Given the description of an element on the screen output the (x, y) to click on. 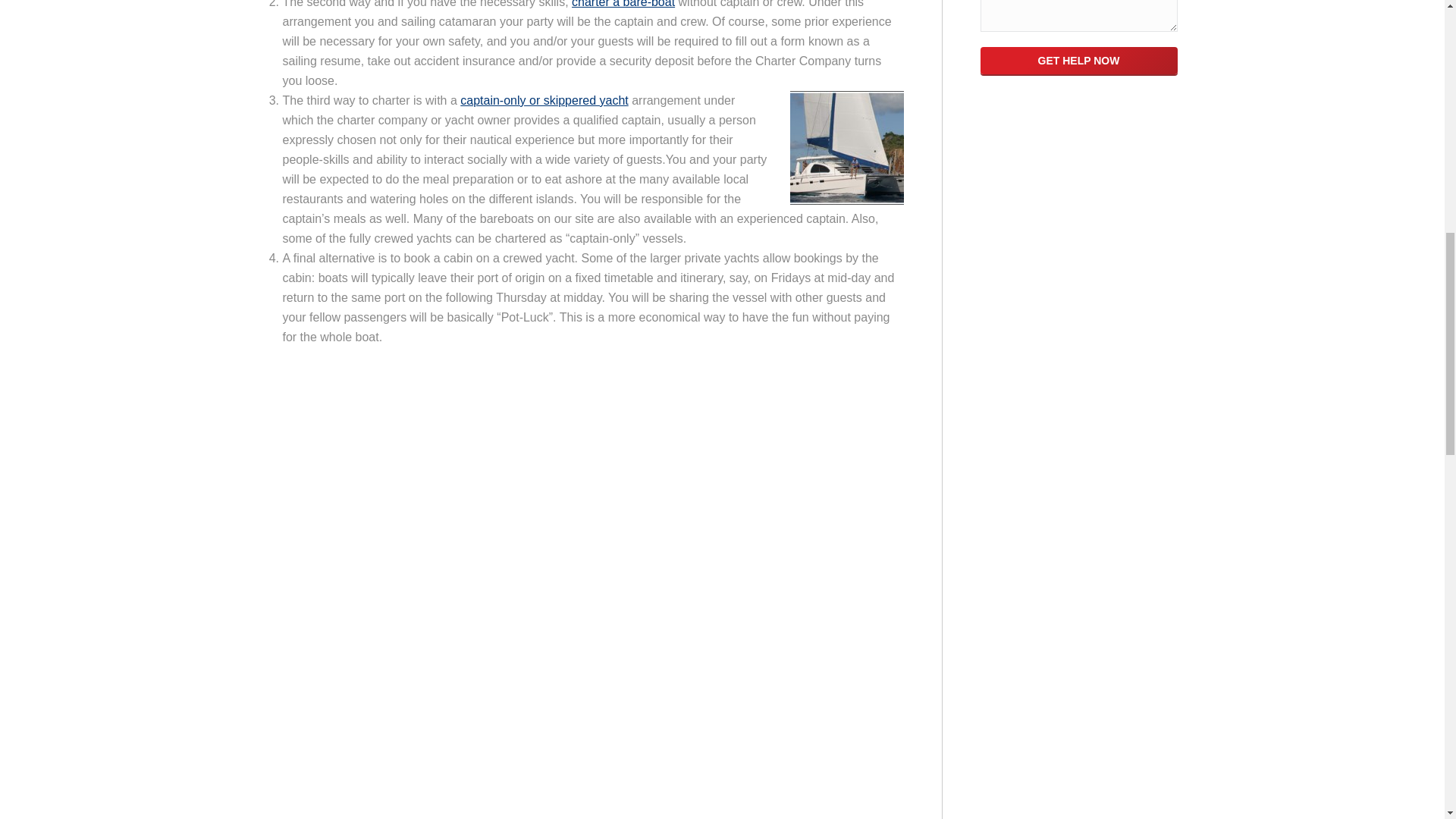
Get Help Now (1077, 60)
